Given the description of an element on the screen output the (x, y) to click on. 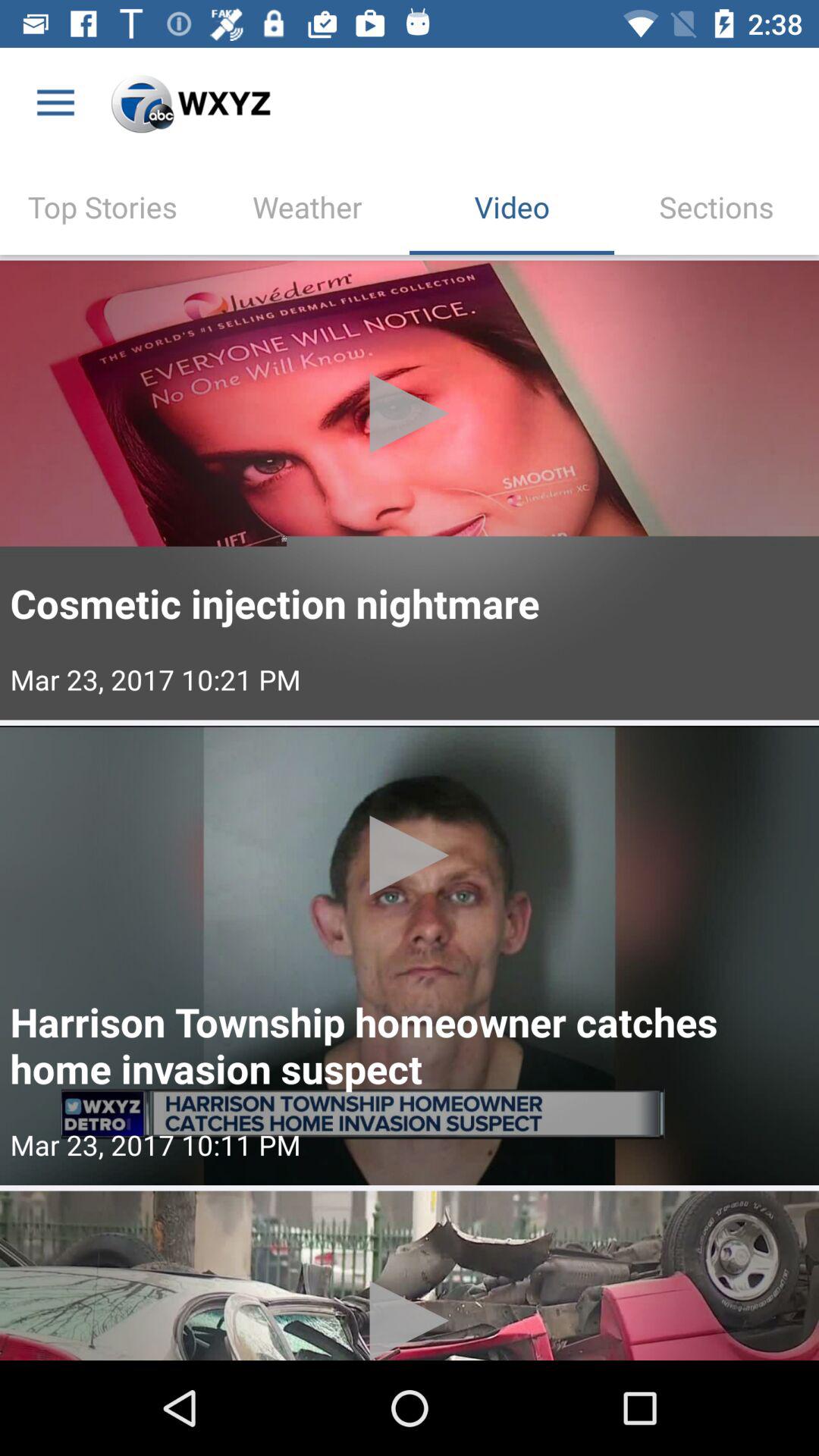
view image (409, 1275)
